Given the description of an element on the screen output the (x, y) to click on. 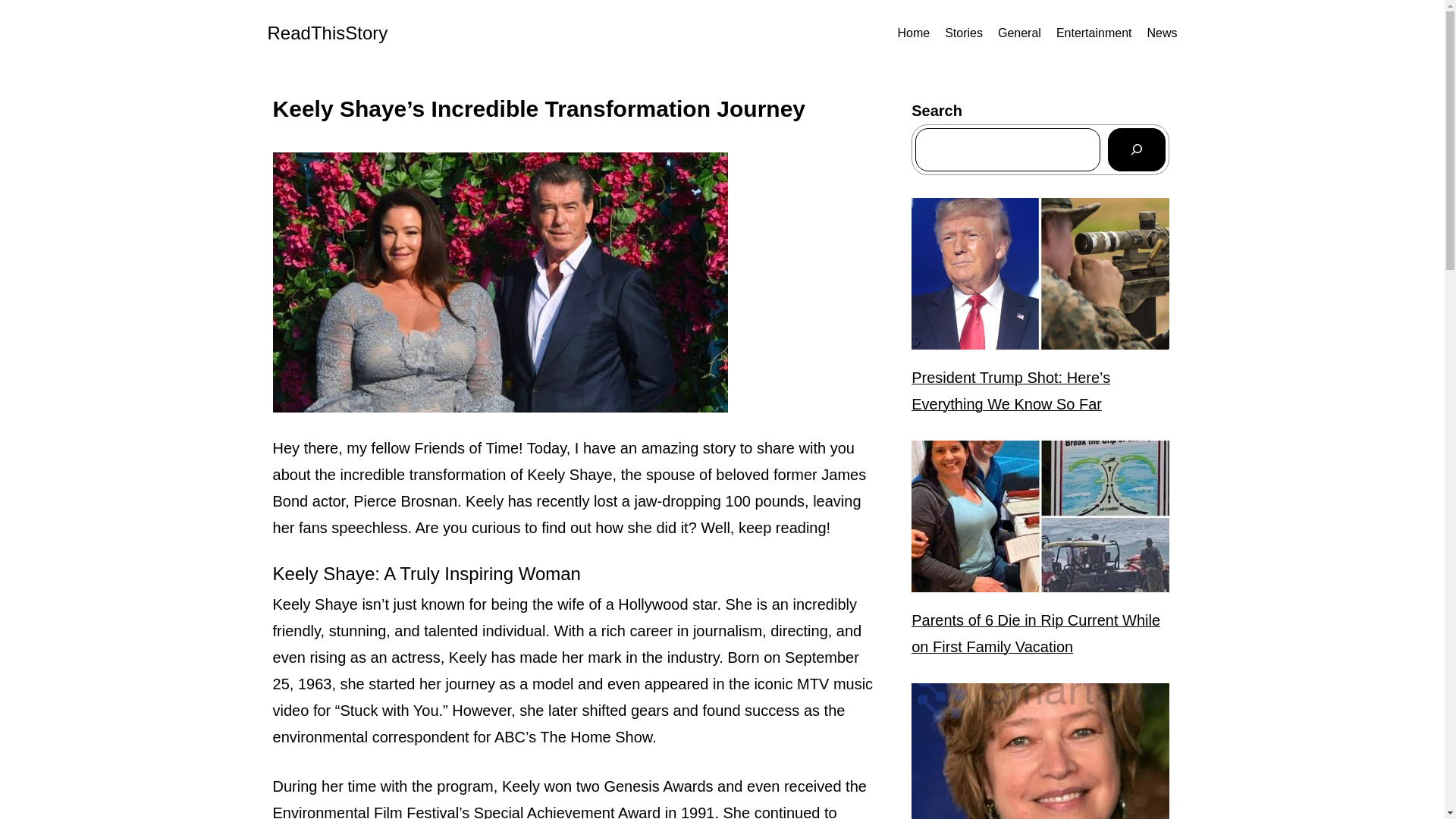
News (1161, 33)
Entertainment (1094, 33)
General (1019, 33)
Home (913, 33)
Stories (963, 33)
ReadThisStory (326, 32)
